Given the description of an element on the screen output the (x, y) to click on. 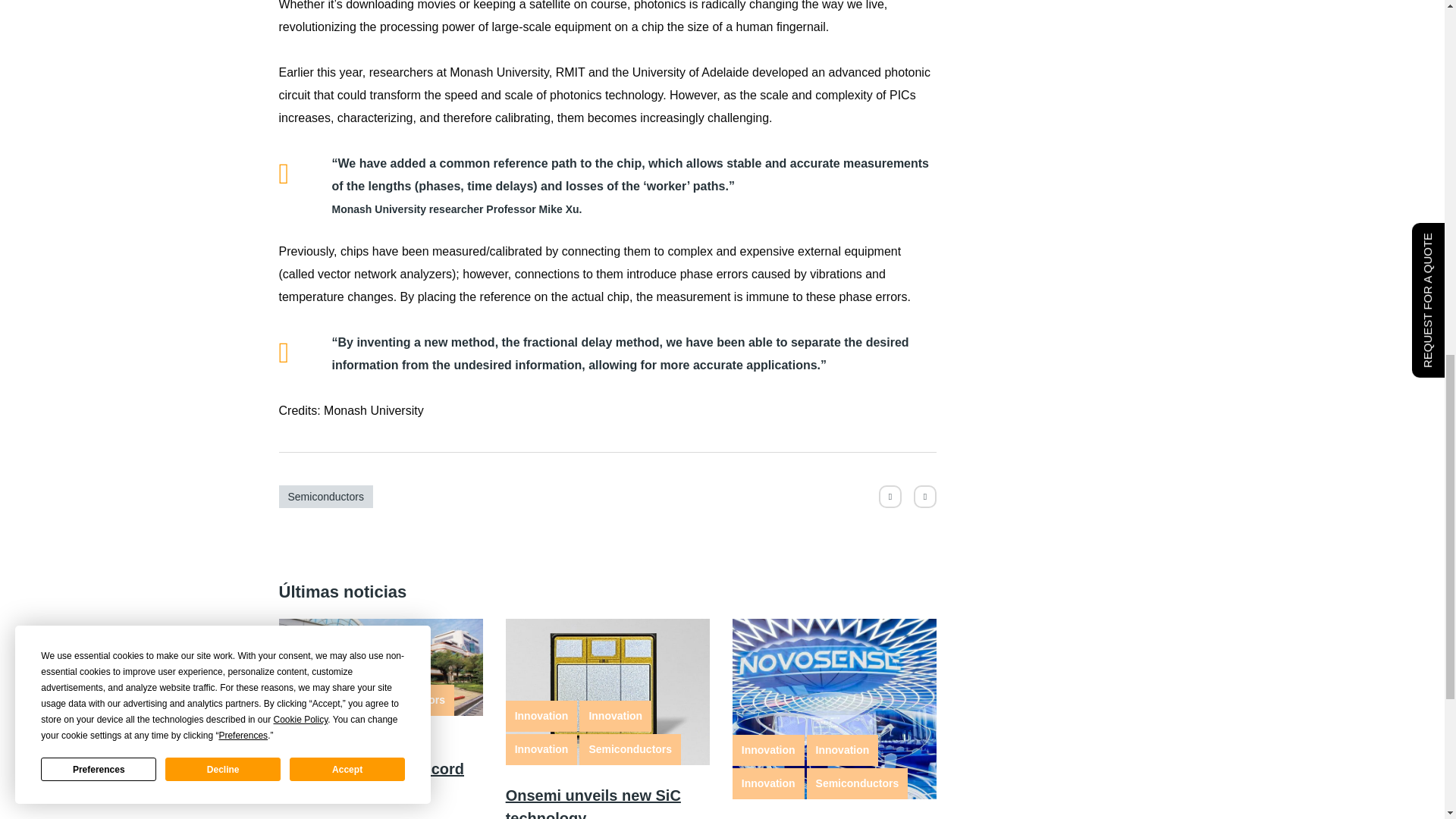
Twitter (890, 496)
TSMC Surpasses Expectations with Record Profits (371, 768)
Innovation (388, 666)
Innovation (314, 666)
1 (834, 709)
LinkedIn (925, 496)
Innovation (314, 699)
Semiconductors (325, 496)
Semiconductors (403, 699)
